Given the description of an element on the screen output the (x, y) to click on. 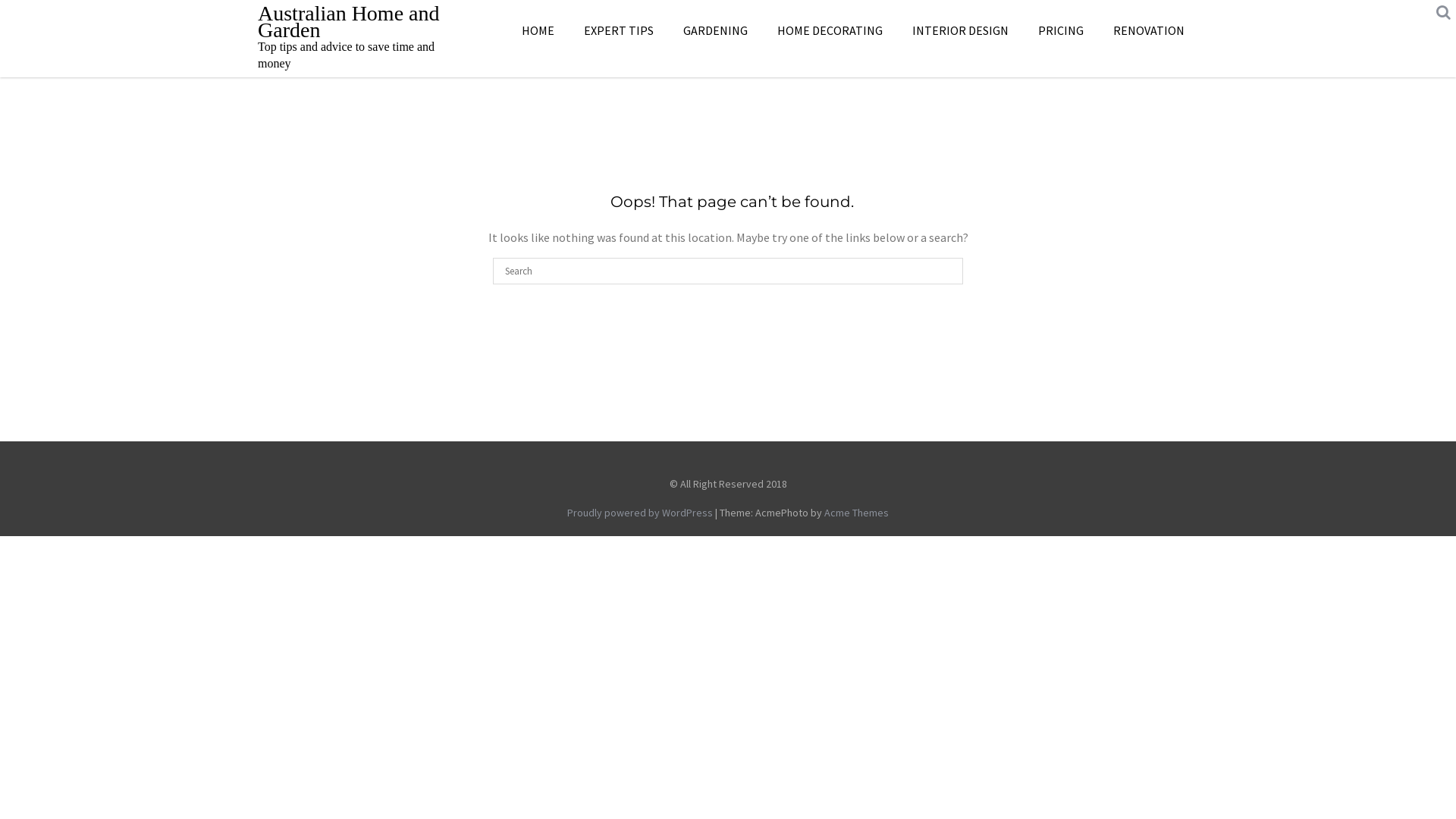
Australian Home and Garden Element type: text (348, 21)
GARDENING Element type: text (715, 30)
Acme Themes Element type: text (856, 512)
RENOVATION Element type: text (1148, 30)
HOME Element type: text (537, 30)
HOME DECORATING Element type: text (829, 30)
EXPERT TIPS Element type: text (618, 30)
PRICING Element type: text (1060, 30)
Proudly powered by WordPress Element type: text (639, 512)
INTERIOR DESIGN Element type: text (960, 30)
